Given the description of an element on the screen output the (x, y) to click on. 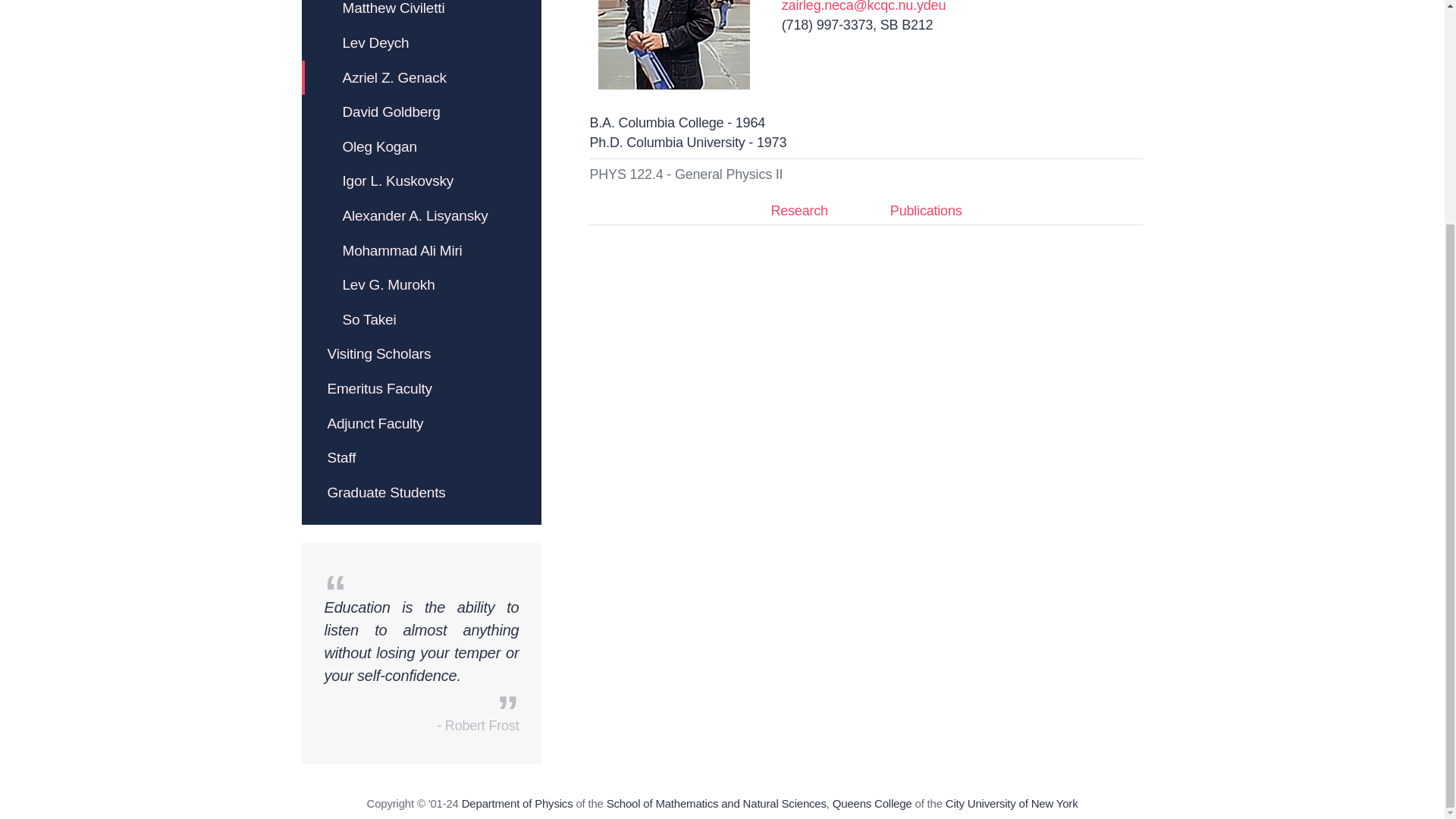
Graduate Students (421, 492)
Contact information and address (517, 802)
Research (798, 211)
Mohammad Ali Miri (421, 250)
So Takei (421, 319)
Room (906, 24)
Azriel Z. Genack (673, 44)
Phone (826, 24)
Igor L. Kuskovsky (421, 181)
Staff (421, 457)
Department of Physics (517, 802)
Publications (926, 211)
Emeritus Faculty (421, 388)
Oleg Kogan (421, 146)
Currently teaching (686, 174)
